Given the description of an element on the screen output the (x, y) to click on. 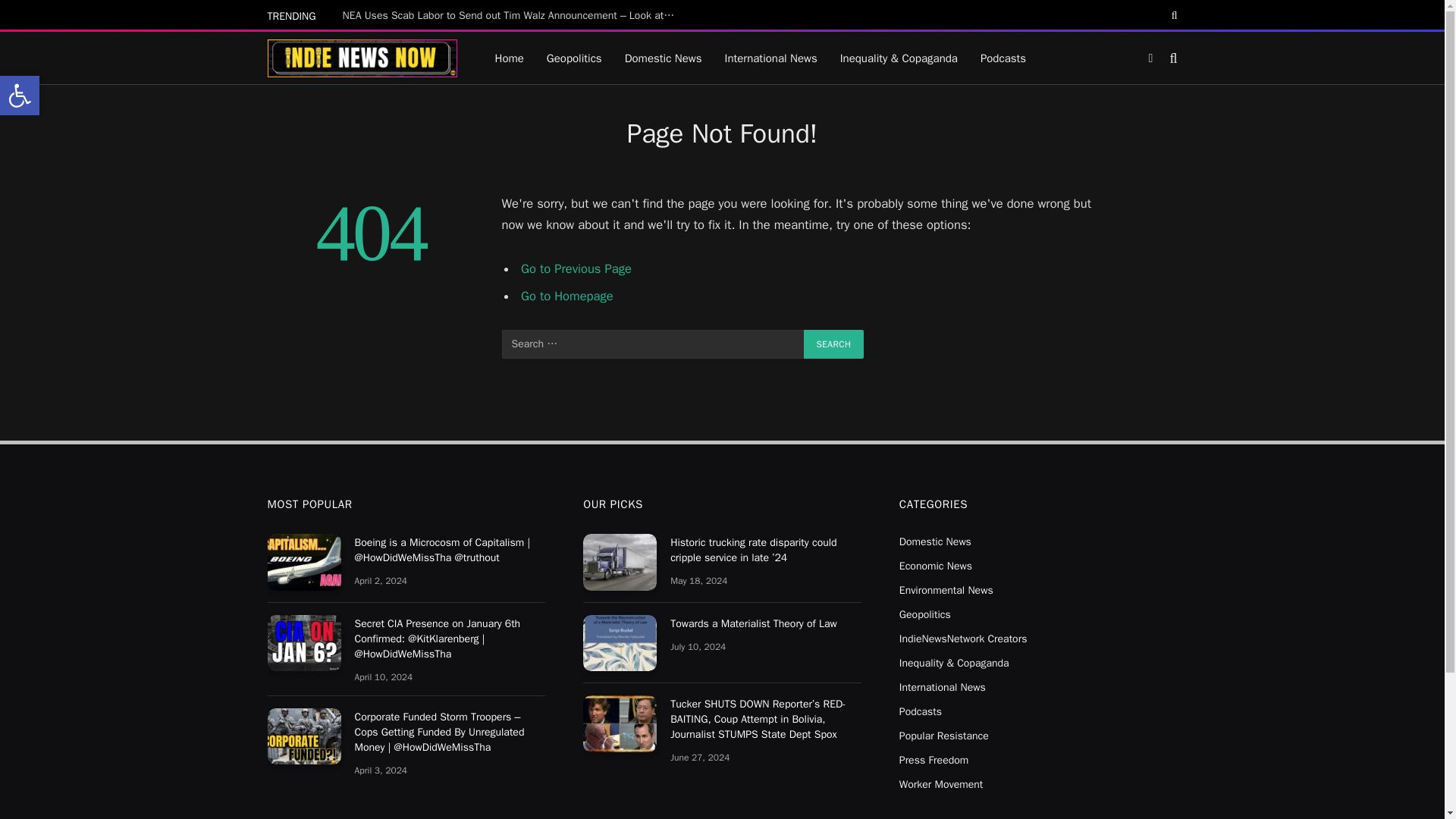
Go to Previous Page (576, 268)
Podcasts (19, 95)
Increase Text (1002, 57)
Decrease Text (19, 95)
Go to Homepage (573, 57)
Increase Text (566, 295)
Grayscale (1173, 15)
